Given the description of an element on the screen output the (x, y) to click on. 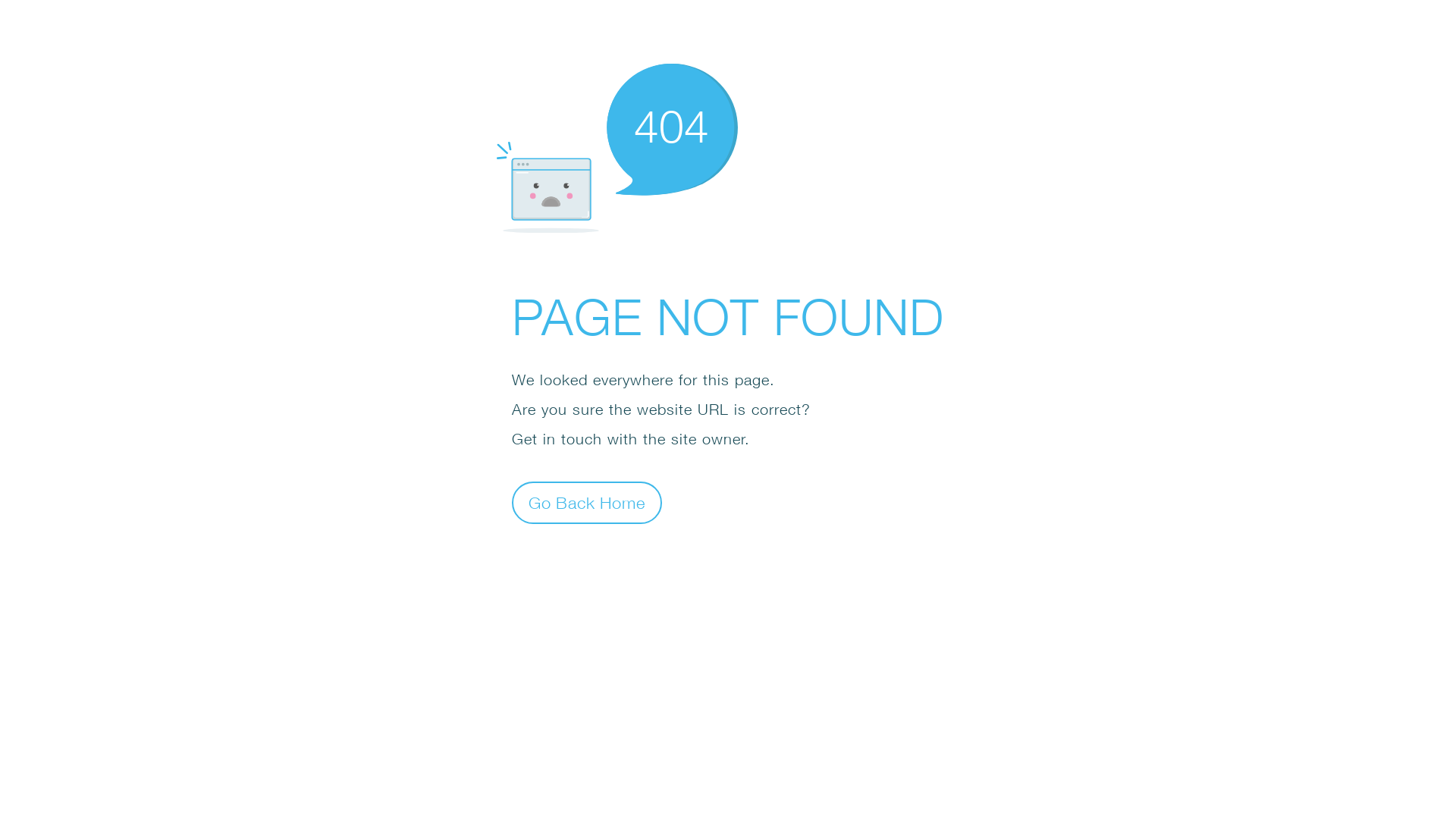
Go Back Home Element type: text (586, 502)
